Given the description of an element on the screen output the (x, y) to click on. 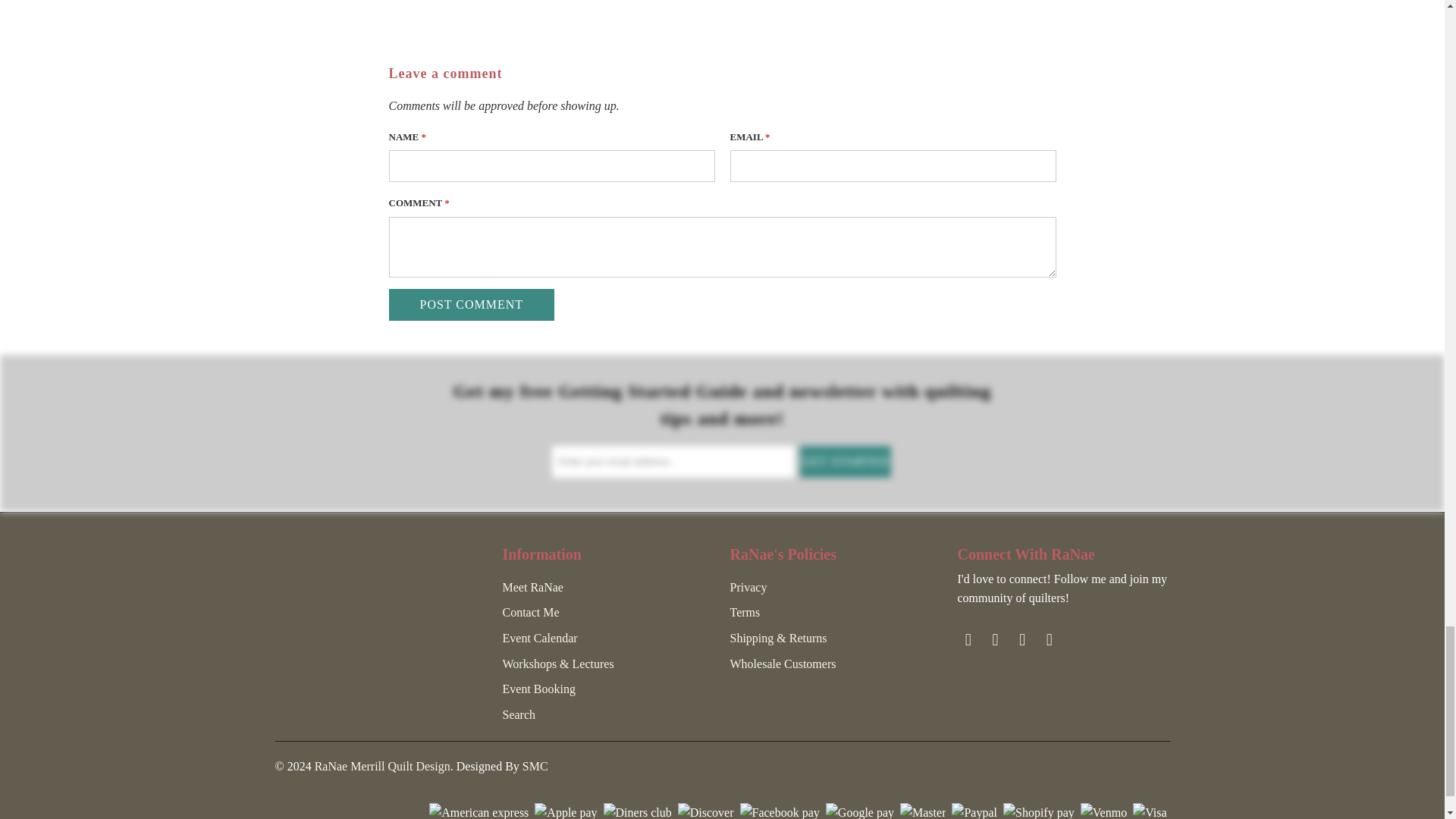
RaNae Merrill Quilt Design on Facebook (967, 639)
Get Started (845, 461)
Post comment (471, 305)
